Given the description of an element on the screen output the (x, y) to click on. 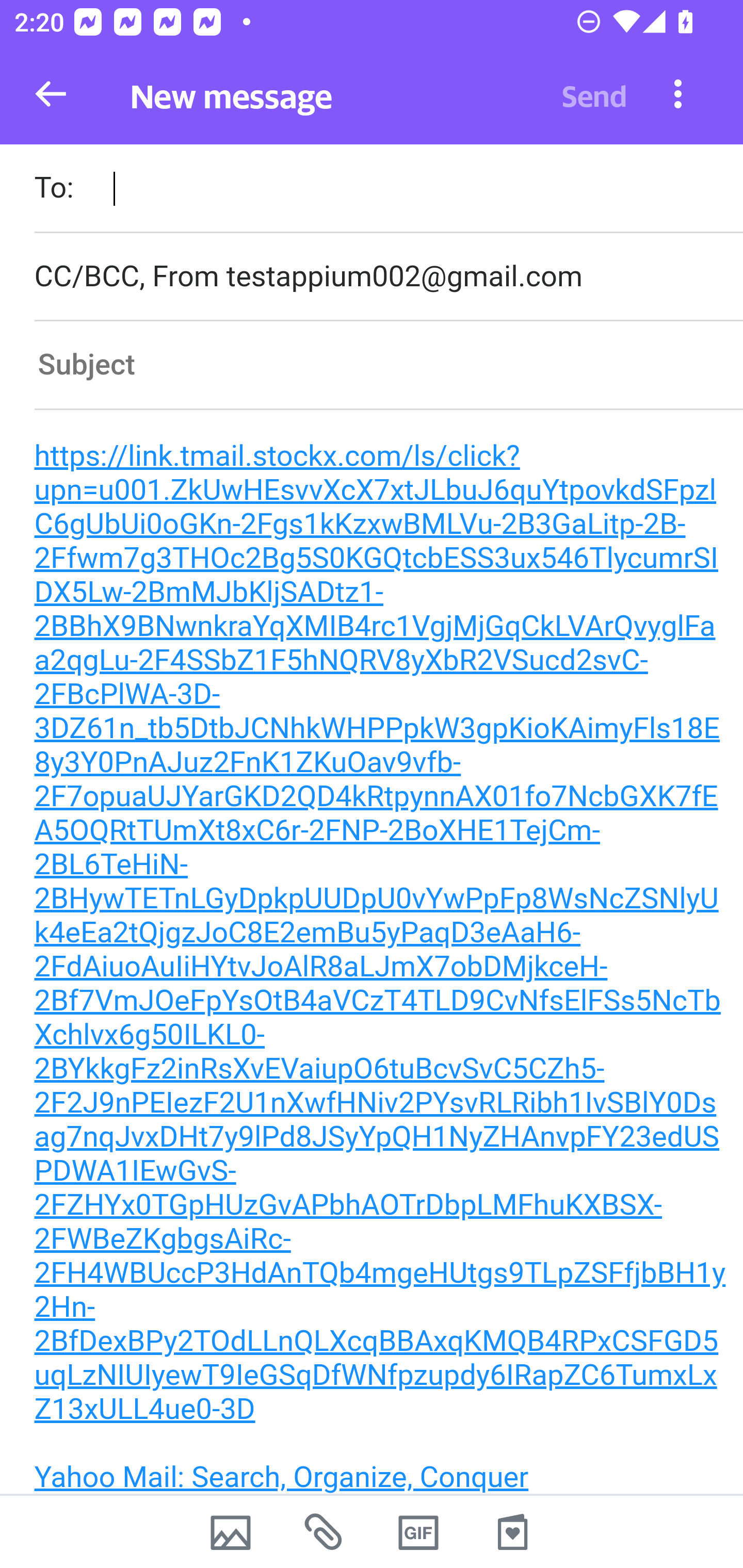
Back (50, 93)
Send (594, 93)
More options (677, 93)
To: (387, 189)
CC/BCC, From testappium002@gmail.com (387, 276)
Camera photos (230, 1531)
Recent attachments from mail (324, 1531)
GIFs (417, 1531)
Stationery (512, 1531)
